Given the description of an element on the screen output the (x, y) to click on. 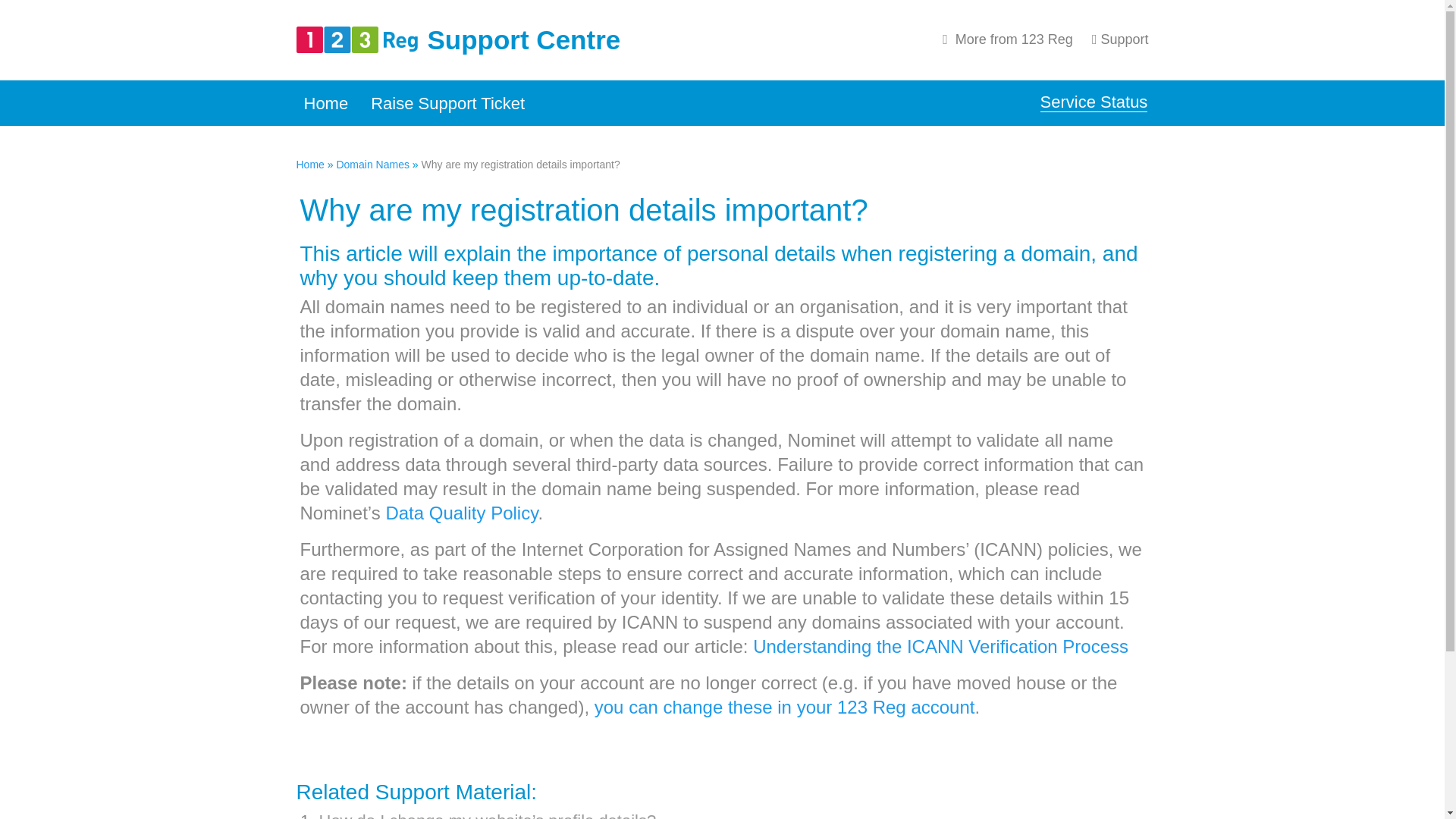
Domain Names (372, 164)
Data Quality Policy (461, 512)
Home (309, 164)
Understanding the ICANN Verification Process (940, 646)
you can change these in your 123 Reg account (784, 706)
More from 123 Reg (1003, 38)
Service Status (1094, 102)
Home (324, 103)
Support (1116, 38)
Raise Support Ticket (447, 103)
